Given the description of an element on the screen output the (x, y) to click on. 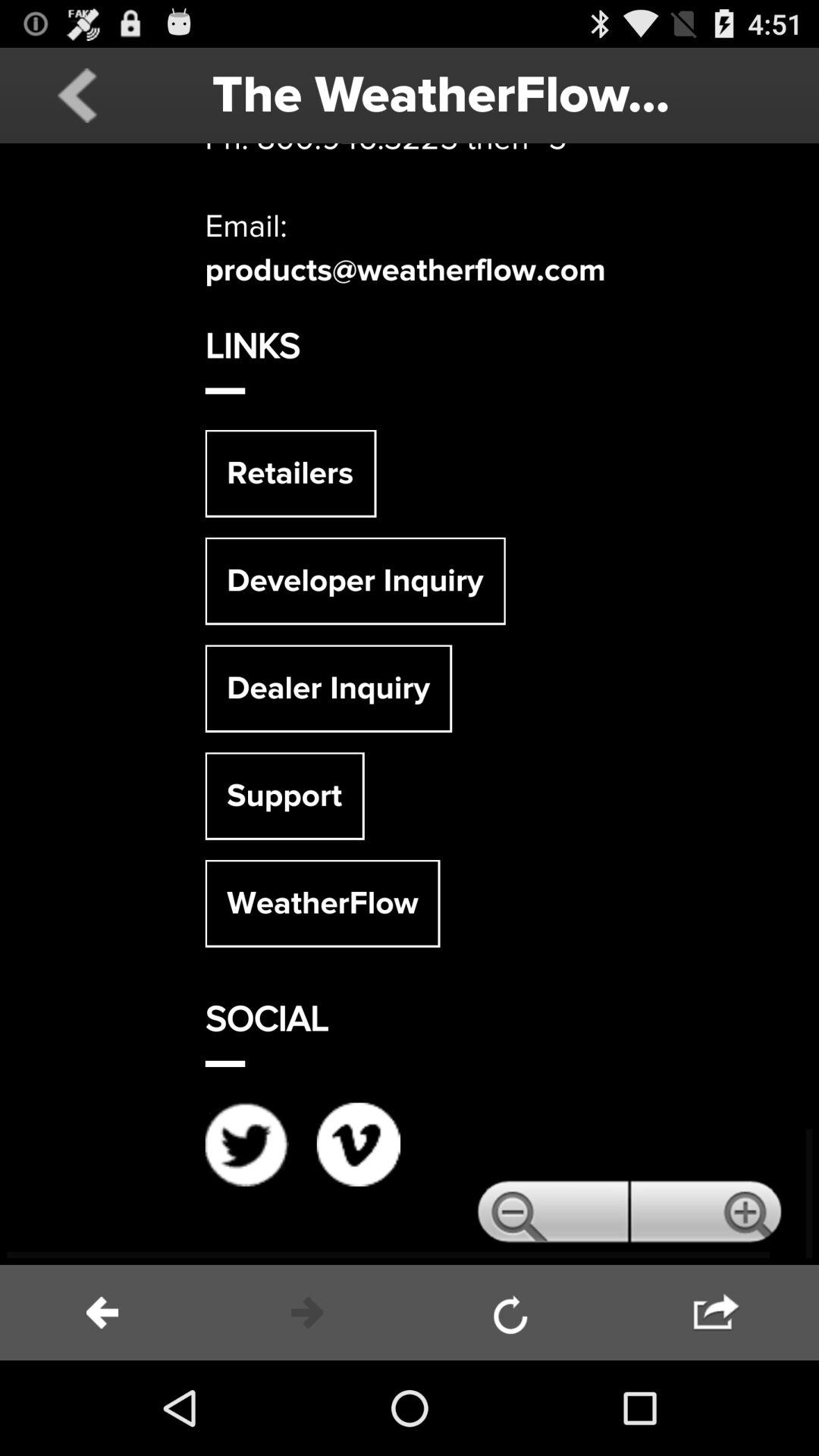
go to next (306, 1312)
